Given the description of an element on the screen output the (x, y) to click on. 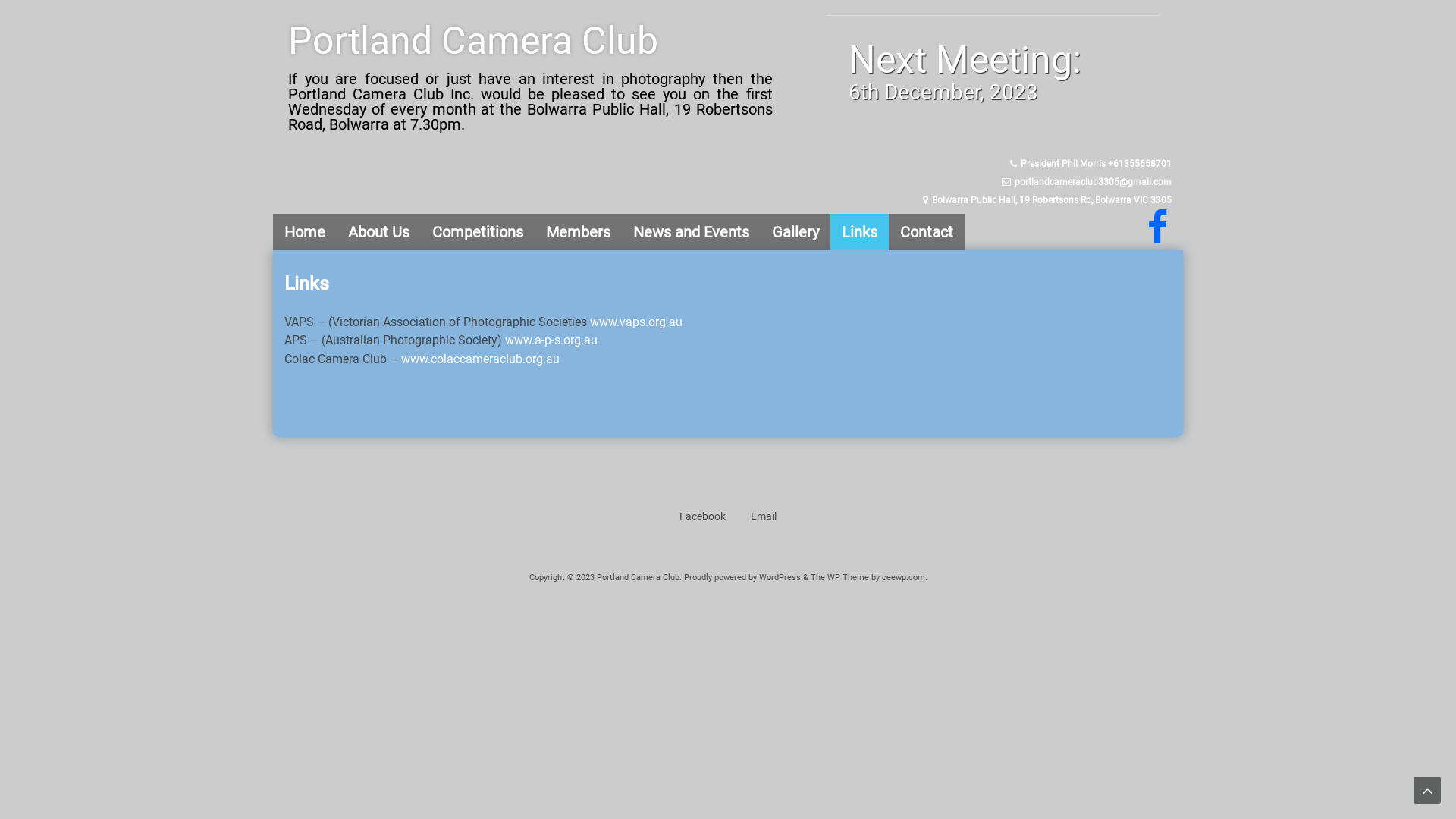
www.vaps.org.au Element type: text (635, 321)
News and Events Element type: text (690, 231)
Contact Element type: text (926, 231)
Members Element type: text (577, 231)
ceewp.com Element type: text (902, 577)
About Us Element type: text (378, 231)
www.a-p-s.org.au Element type: text (551, 339)
Links Element type: text (859, 231)
Portland Camera Club Element type: text (637, 577)
Email Element type: text (763, 516)
www.colaccameraclub.org.au Element type: text (480, 358)
Gallery Element type: text (795, 231)
Home Element type: text (304, 231)
Portland Camera Club Element type: text (473, 40)
facebook Element type: hover (1155, 237)
Competitions Element type: text (477, 231)
Facebook Element type: text (702, 516)
